Given the description of an element on the screen output the (x, y) to click on. 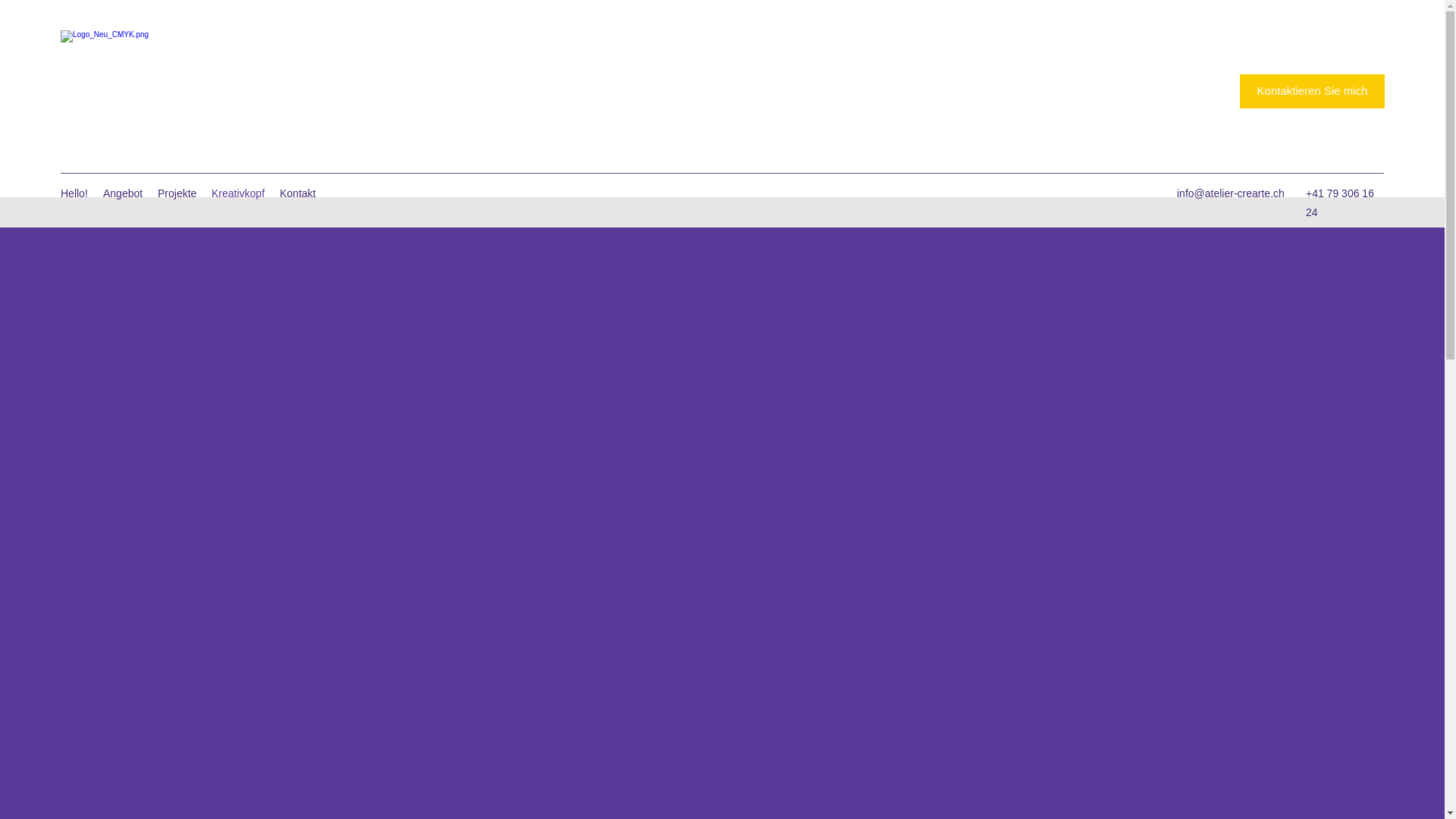
Kontakt Element type: text (297, 193)
Projekte Element type: text (176, 193)
Kreativkopf Element type: text (237, 193)
Hello! Element type: text (74, 193)
Angebot Element type: text (122, 193)
Kontaktieren Sie mich Element type: text (1311, 91)
info@atelier-crearte.ch Element type: text (1230, 193)
